Given the description of an element on the screen output the (x, y) to click on. 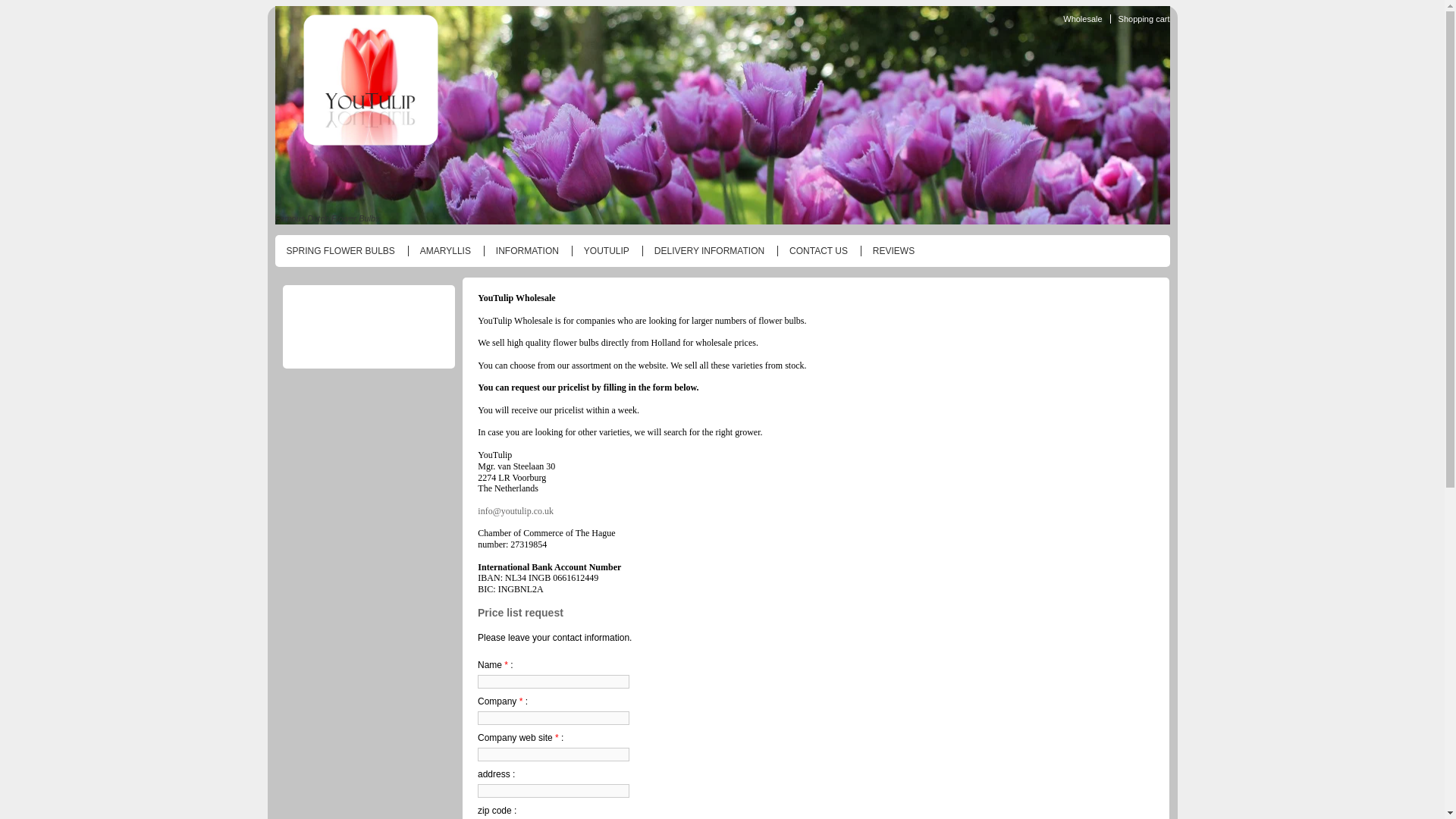
Logo (369, 84)
YOUTULIP (602, 251)
Shopping cart (1139, 18)
SPRING FLOWER BULBS (336, 251)
Wholesale (1078, 18)
REVIEWS (889, 251)
AMARYLLIS (440, 251)
DELIVERY INFORMATION (705, 251)
CONTACT US (814, 251)
INFORMATION (522, 251)
